Given the description of an element on the screen output the (x, y) to click on. 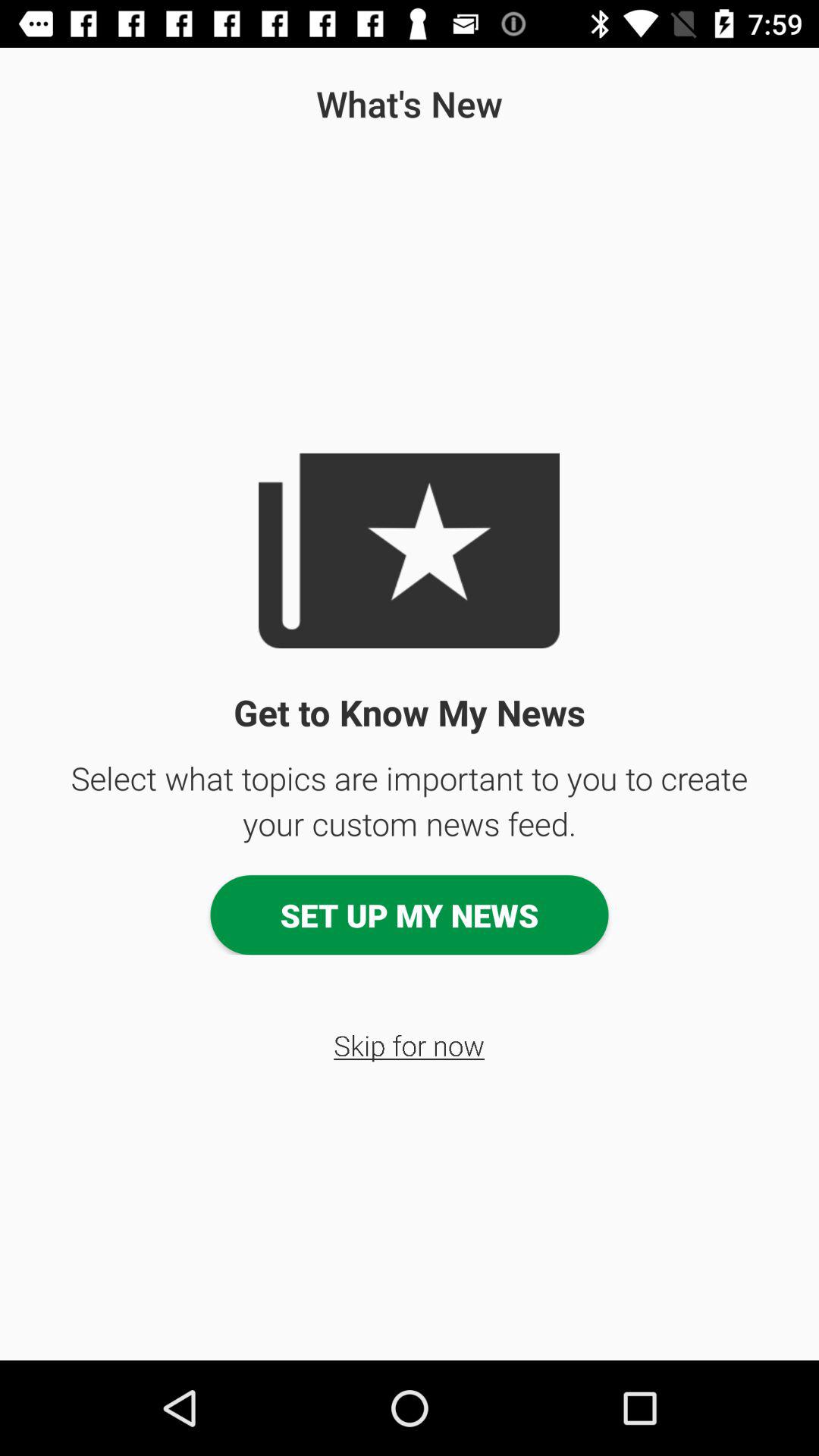
flip to skip for now item (409, 1044)
